Given the description of an element on the screen output the (x, y) to click on. 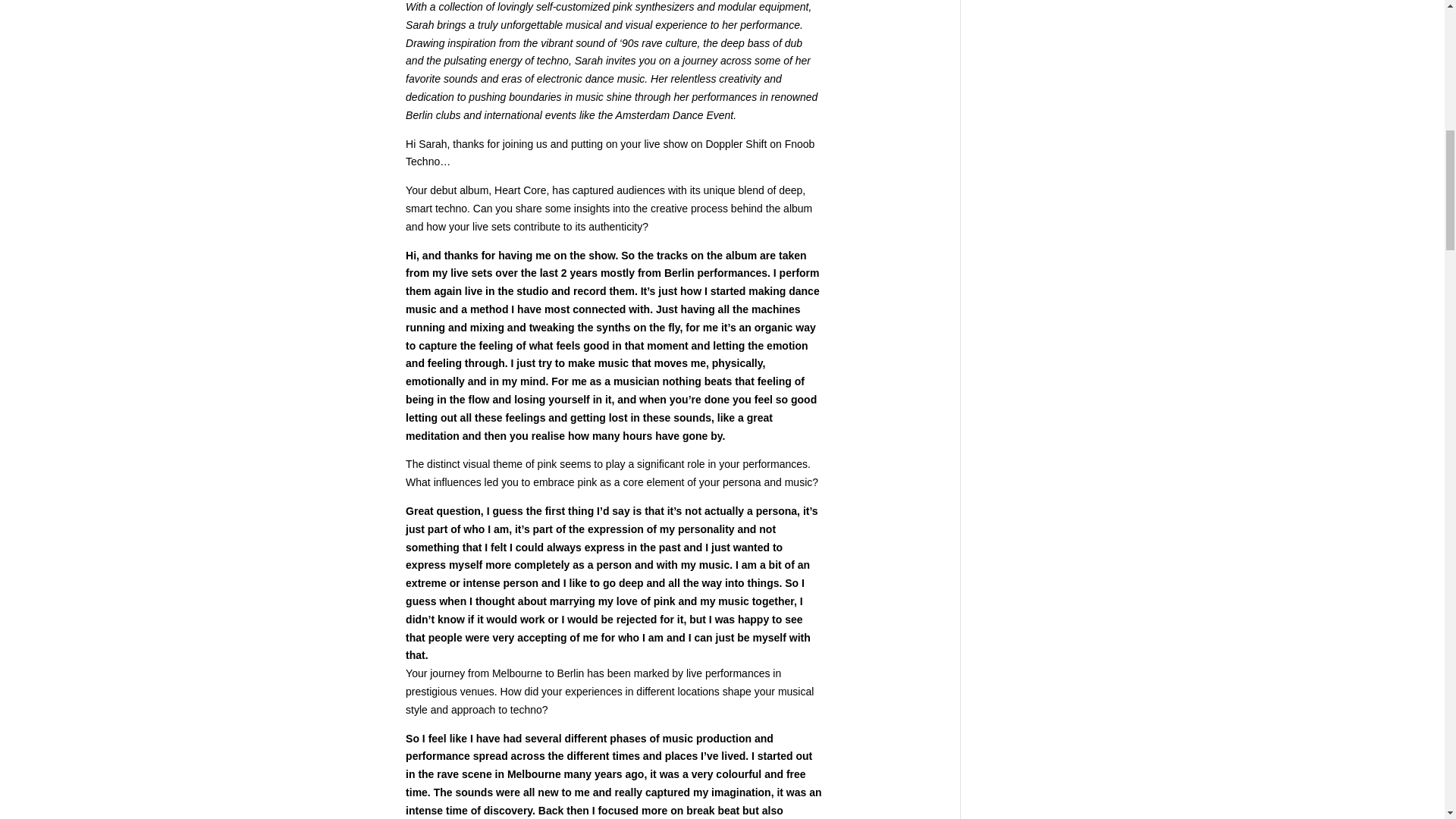
Heart Core (519, 190)
Page 2 (614, 742)
Doppler Shift (735, 143)
